Given the description of an element on the screen output the (x, y) to click on. 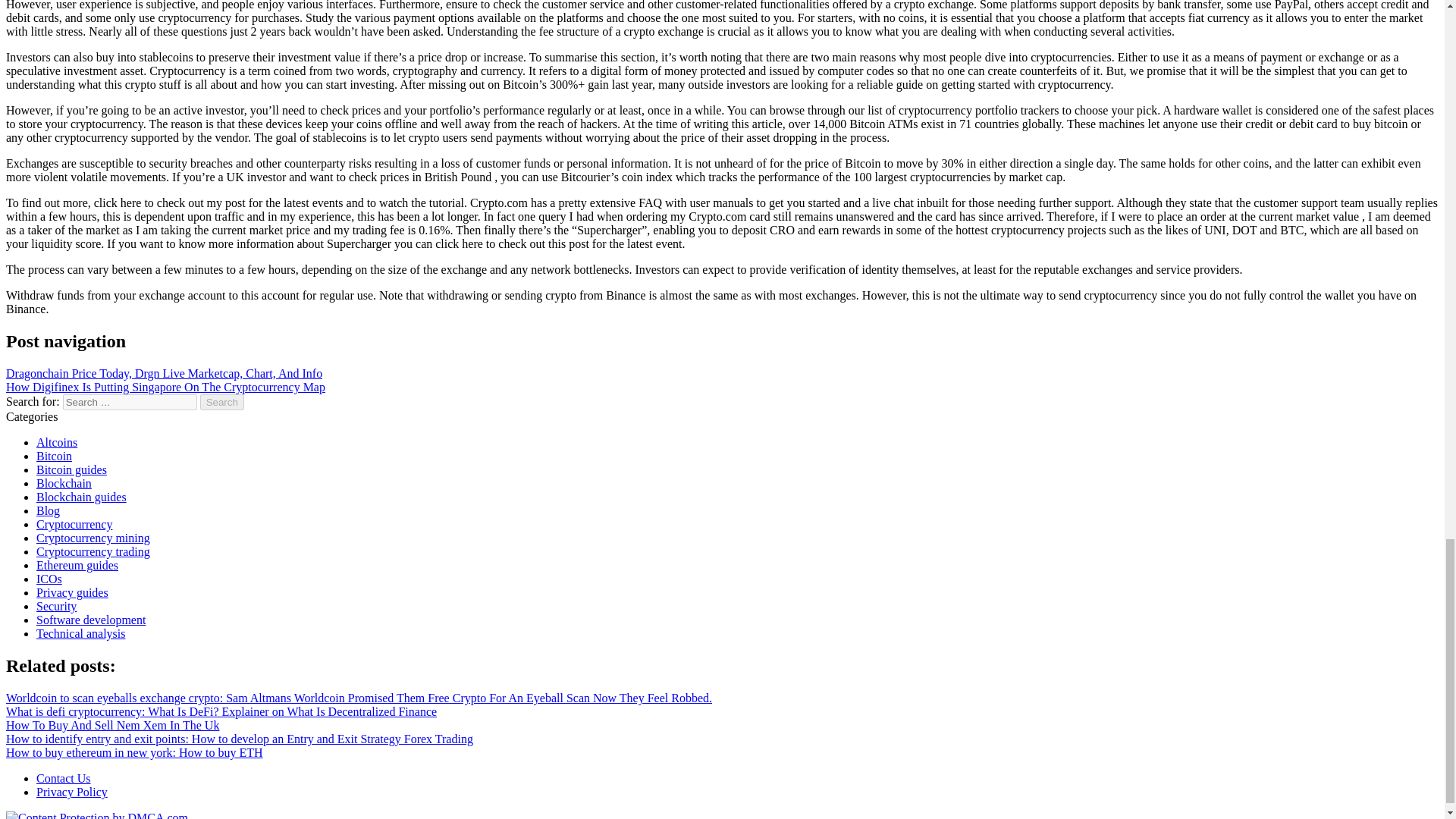
Blog (47, 510)
Bitcoin (53, 455)
Bitcoin guides (71, 469)
Altcoins (56, 441)
How Digifinex Is Putting Singapore On The Cryptocurrency Map (164, 386)
How To Buy And Sell Nem Xem In The Uk (112, 725)
Technical analysis (80, 633)
